Given the description of an element on the screen output the (x, y) to click on. 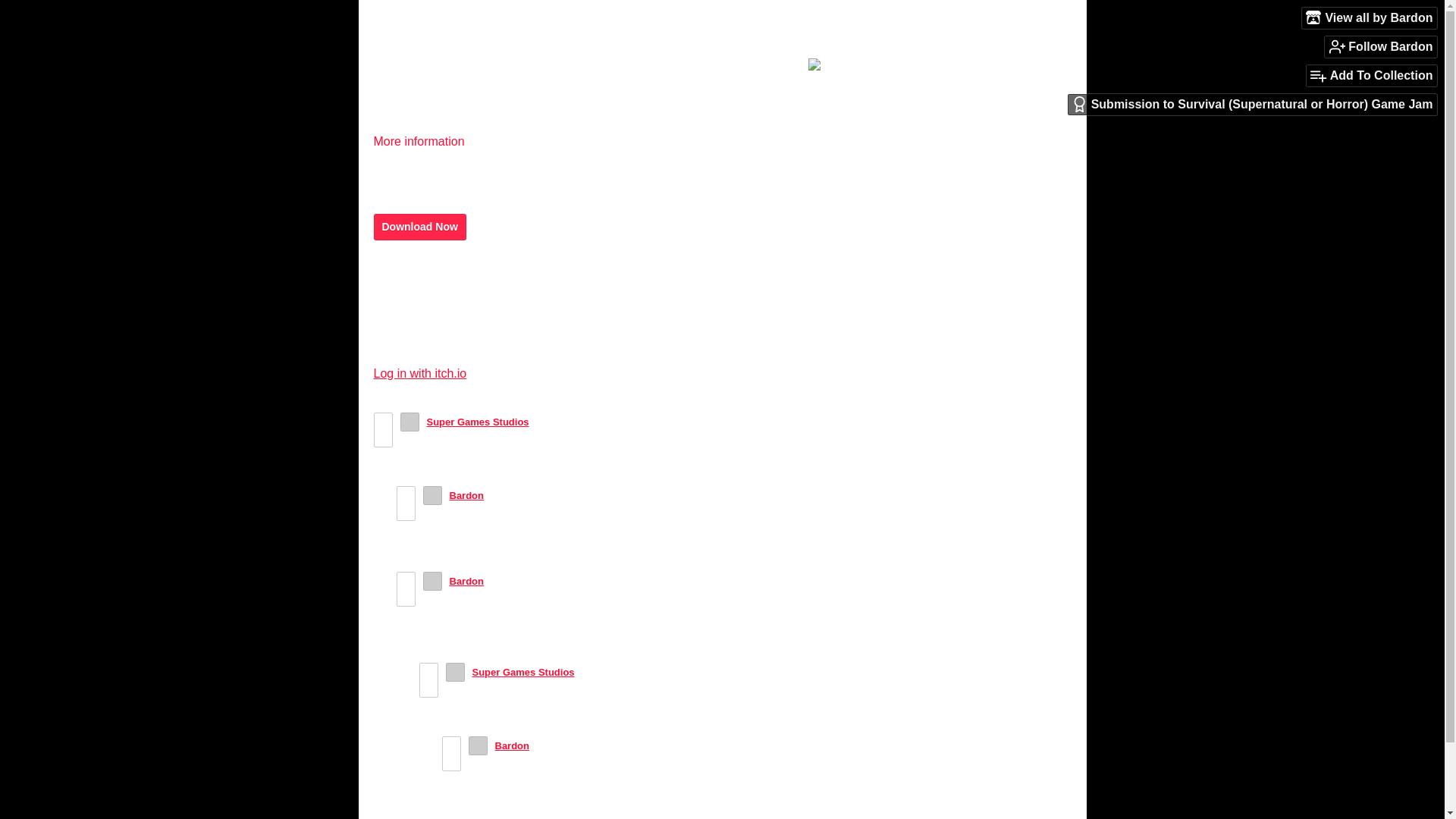
Reply (435, 645)
Super Games Studios (477, 421)
Vote down (429, 688)
2023-06-24 11:09:31 (605, 672)
Vote down (405, 511)
Reply (412, 469)
2023-06-14 18:37:21 (560, 421)
1 year ago (514, 495)
Reply (435, 542)
Vote up (405, 494)
